Given the description of an element on the screen output the (x, y) to click on. 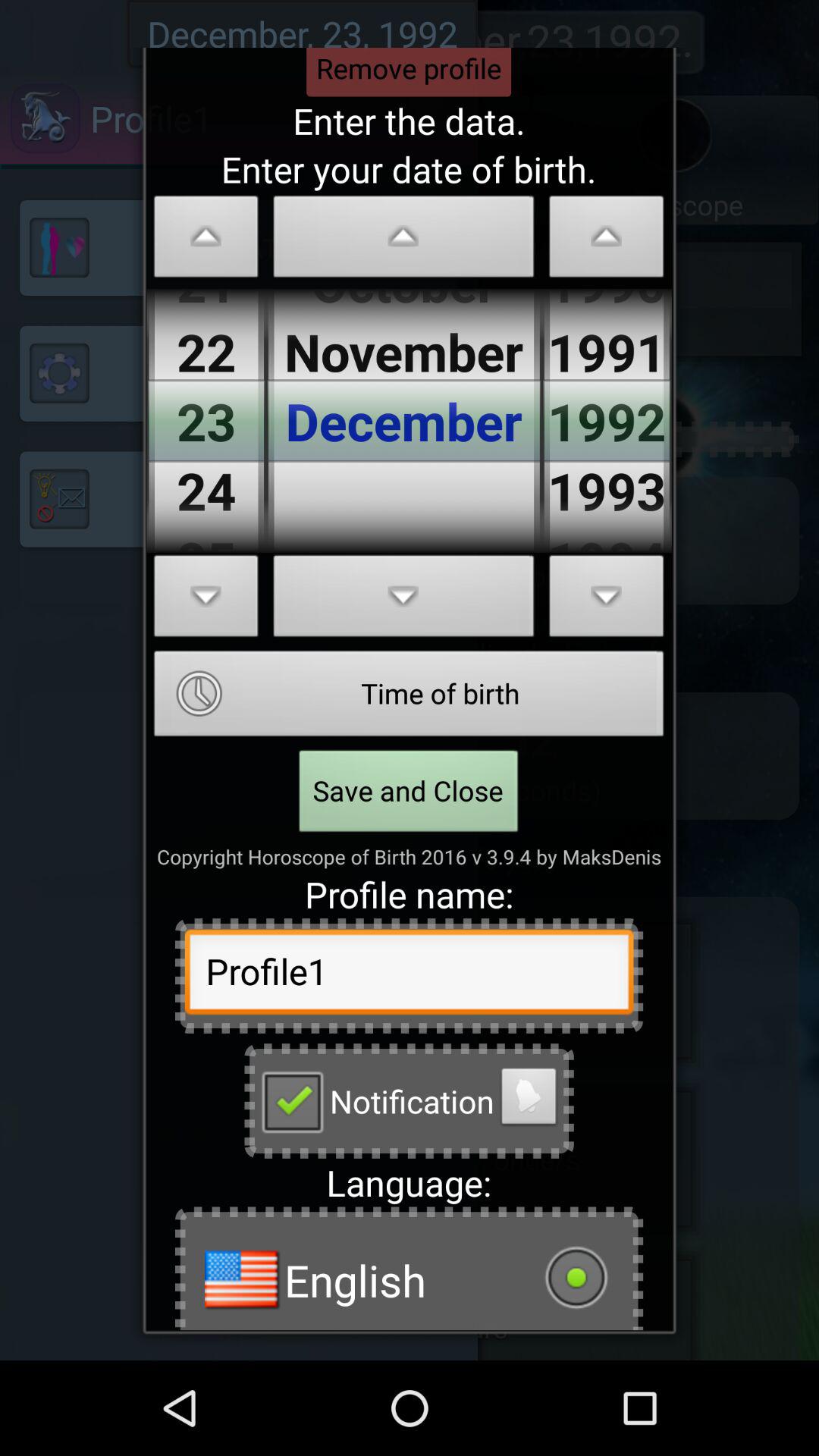
scroll down button (404, 600)
